Given the description of an element on the screen output the (x, y) to click on. 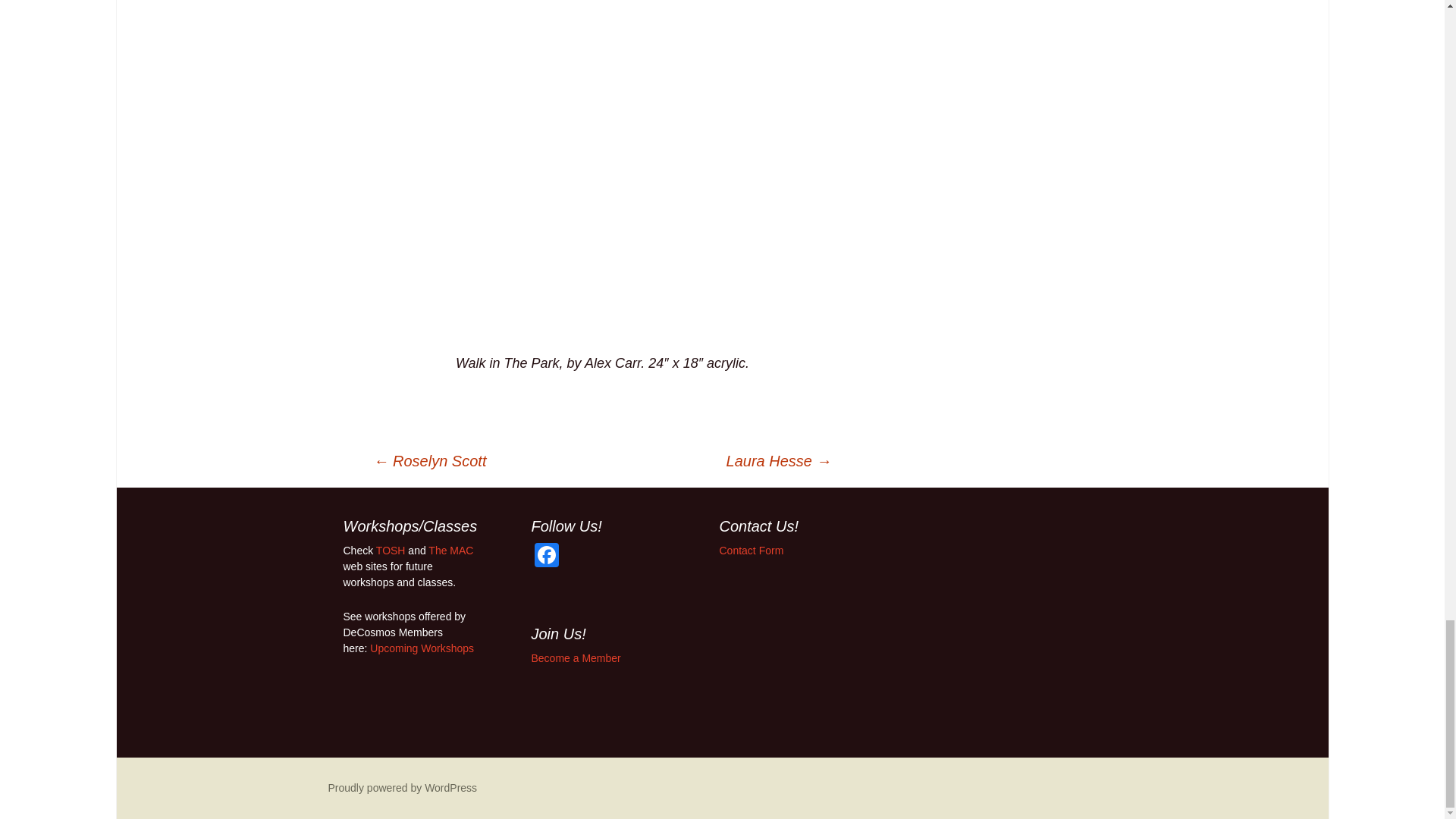
The MAC (450, 550)
Proudly powered by WordPress (402, 787)
Facebook (545, 556)
Become a Member (575, 657)
Facebook (545, 556)
Contact Form (751, 550)
TOSH (390, 550)
Upcoming Workshops (421, 648)
